Given the description of an element on the screen output the (x, y) to click on. 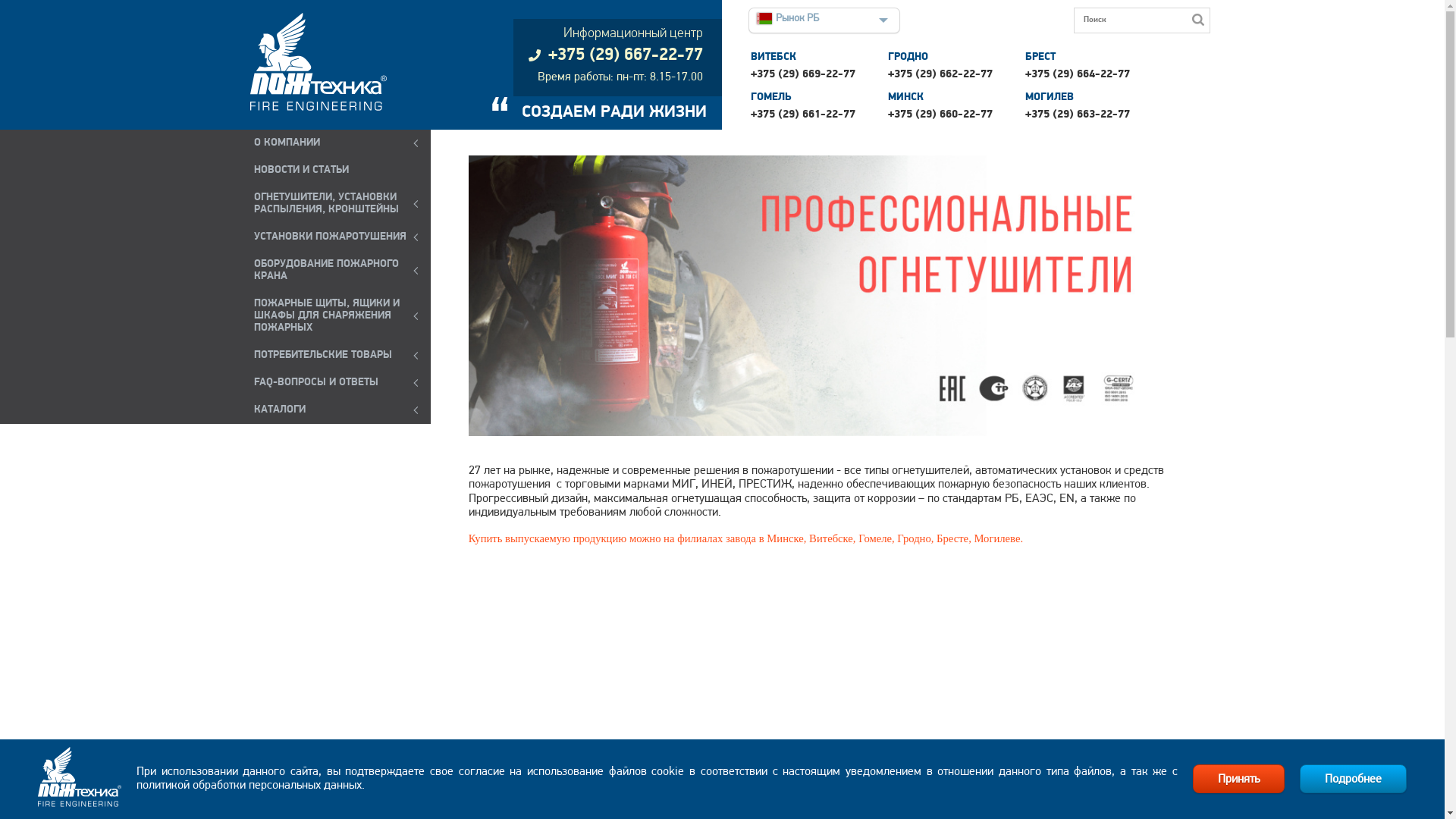
+375 (29) 667-22-77 Element type: text (615, 55)
